Given the description of an element on the screen output the (x, y) to click on. 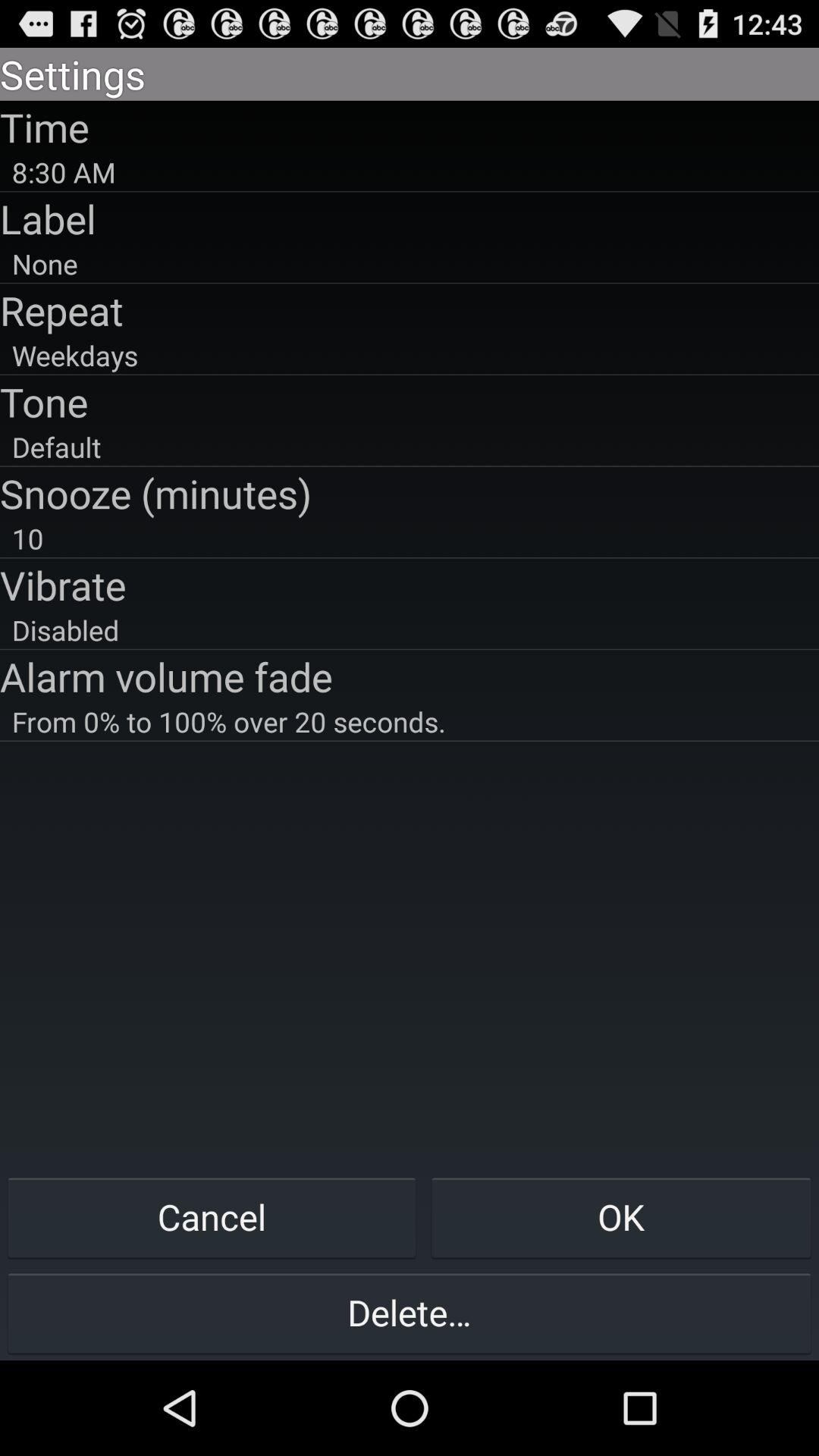
swipe until the none icon (409, 263)
